Given the description of an element on the screen output the (x, y) to click on. 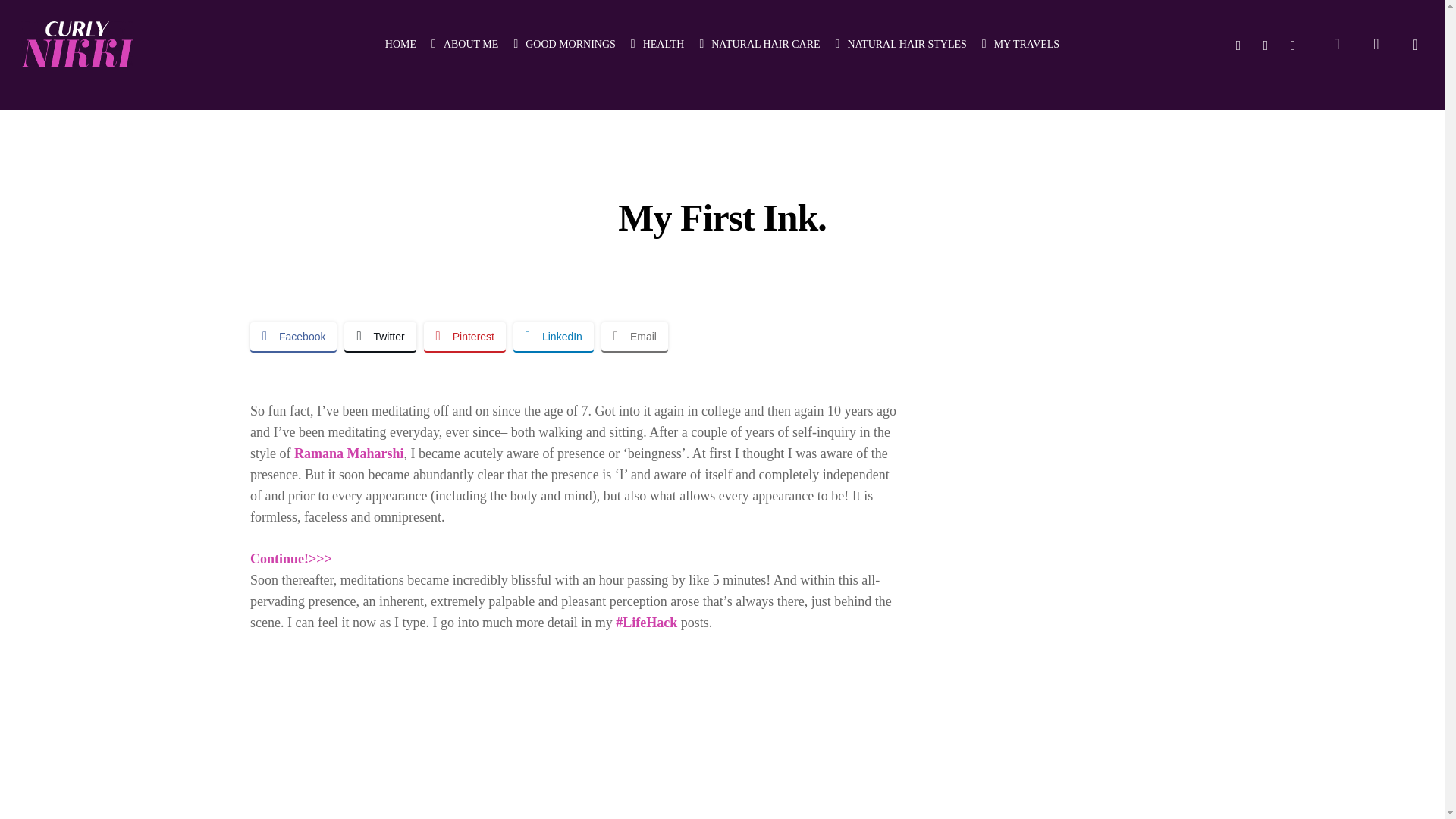
HEALTH (657, 44)
NATURAL HAIR CARE (758, 44)
NATURAL HAIR STYLES (900, 44)
GOOD MORNINGS (563, 44)
ABOUT ME (463, 44)
HOME (400, 44)
